Given the description of an element on the screen output the (x, y) to click on. 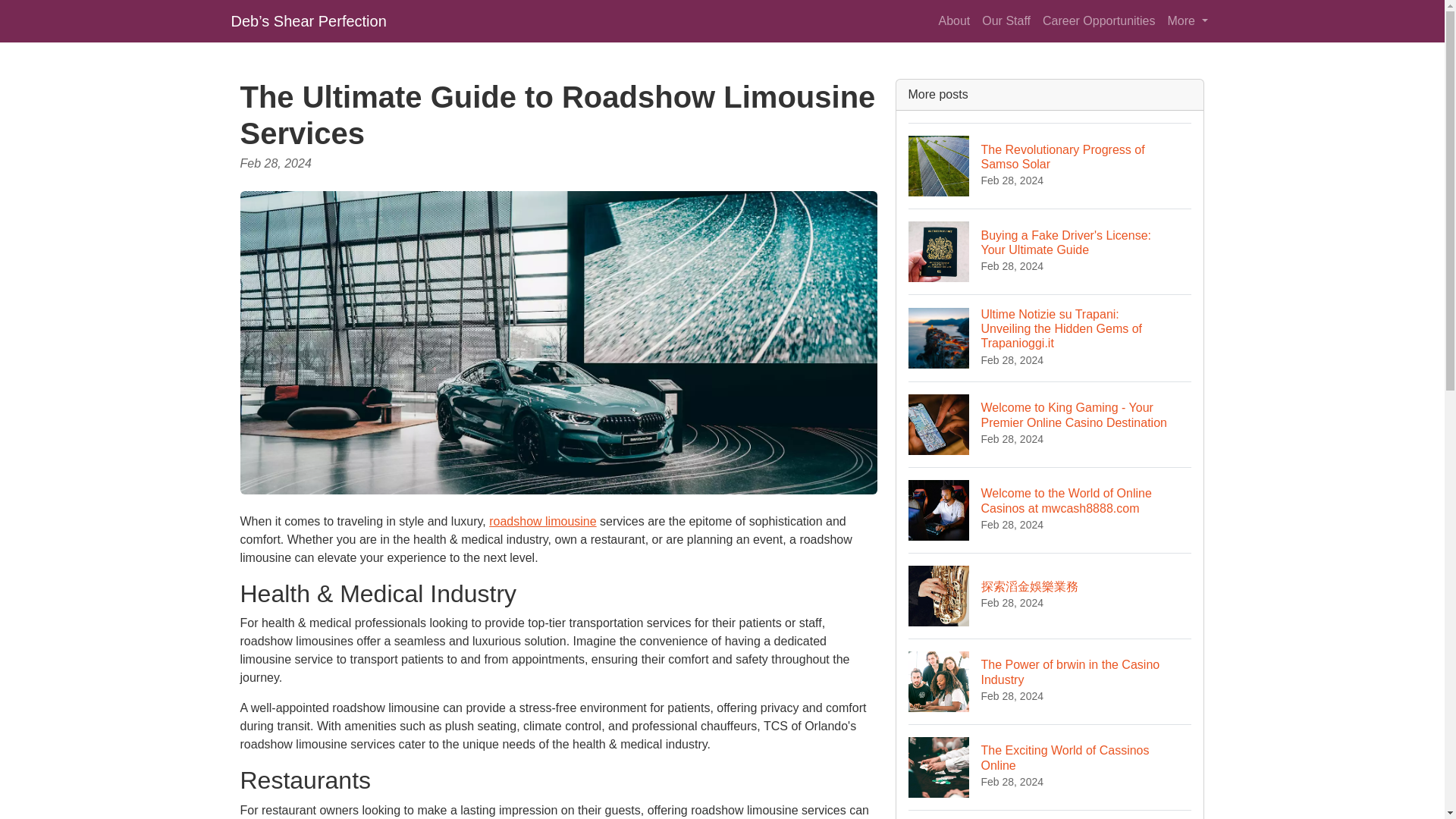
Career Opportunities (1098, 20)
Our Staff (1050, 165)
About (1050, 680)
roadshow limousine (1050, 814)
More (1005, 20)
